Given the description of an element on the screen output the (x, y) to click on. 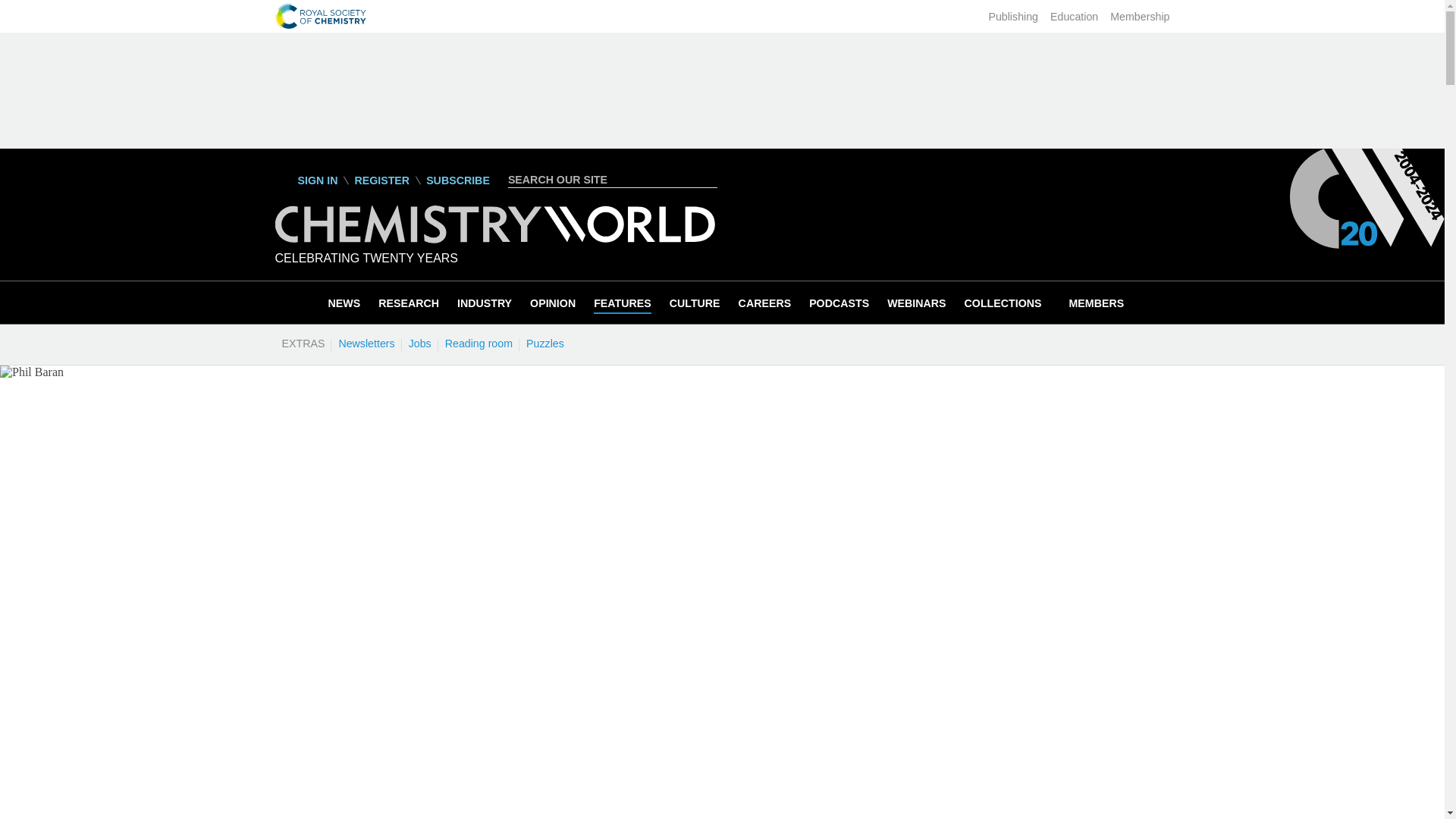
Jobs (419, 343)
Chemistry World (494, 224)
SEARCH (708, 179)
REGISTER (381, 180)
Reading room (478, 343)
SUBSCRIBE (457, 180)
Education (1073, 16)
SIGN IN (306, 180)
Publishing (1013, 16)
Puzzles (544, 343)
